Given the description of an element on the screen output the (x, y) to click on. 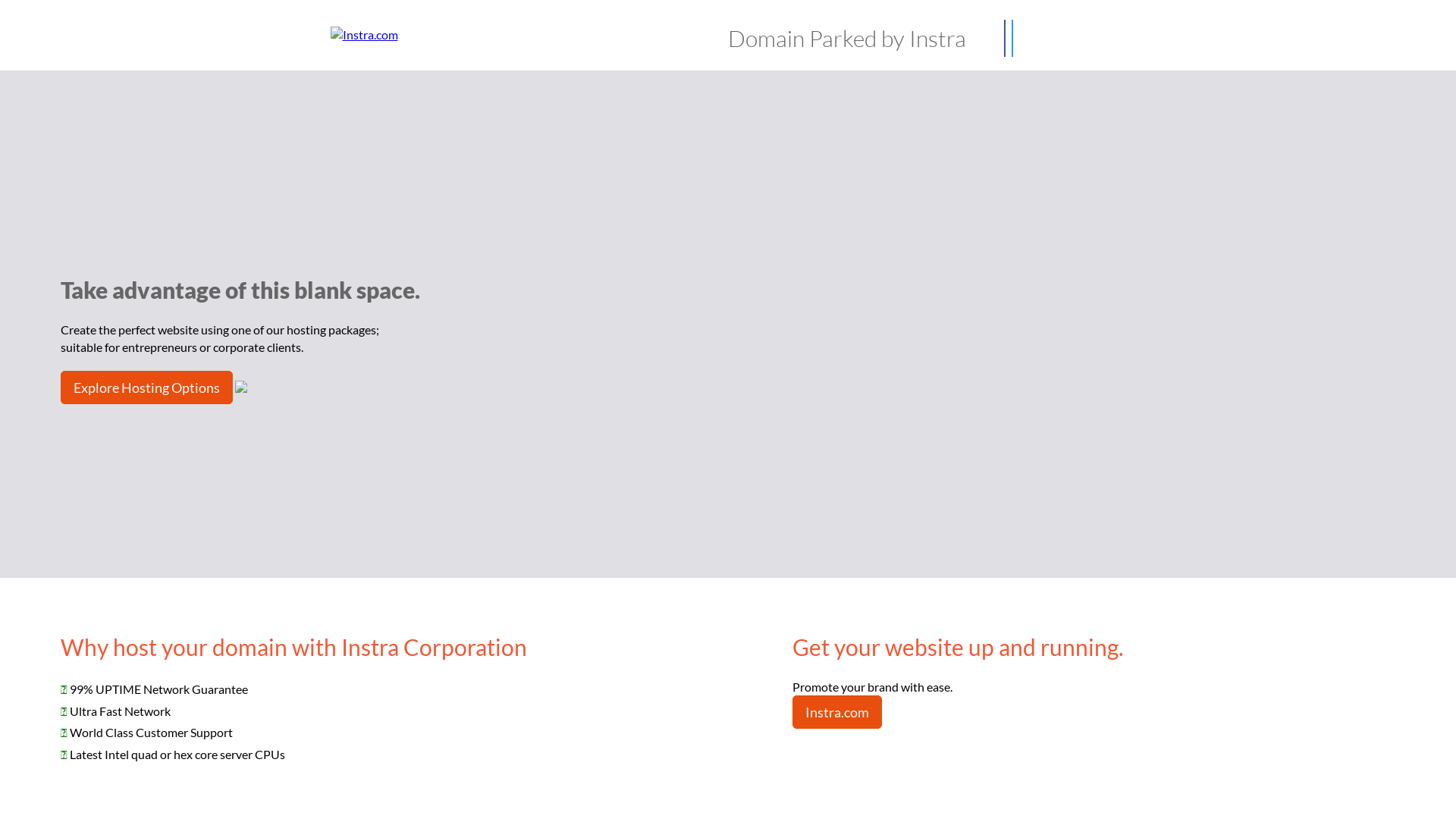
Explore Hosting Options Element type: text (146, 387)
Instra.com Element type: text (836, 711)
